Given the description of an element on the screen output the (x, y) to click on. 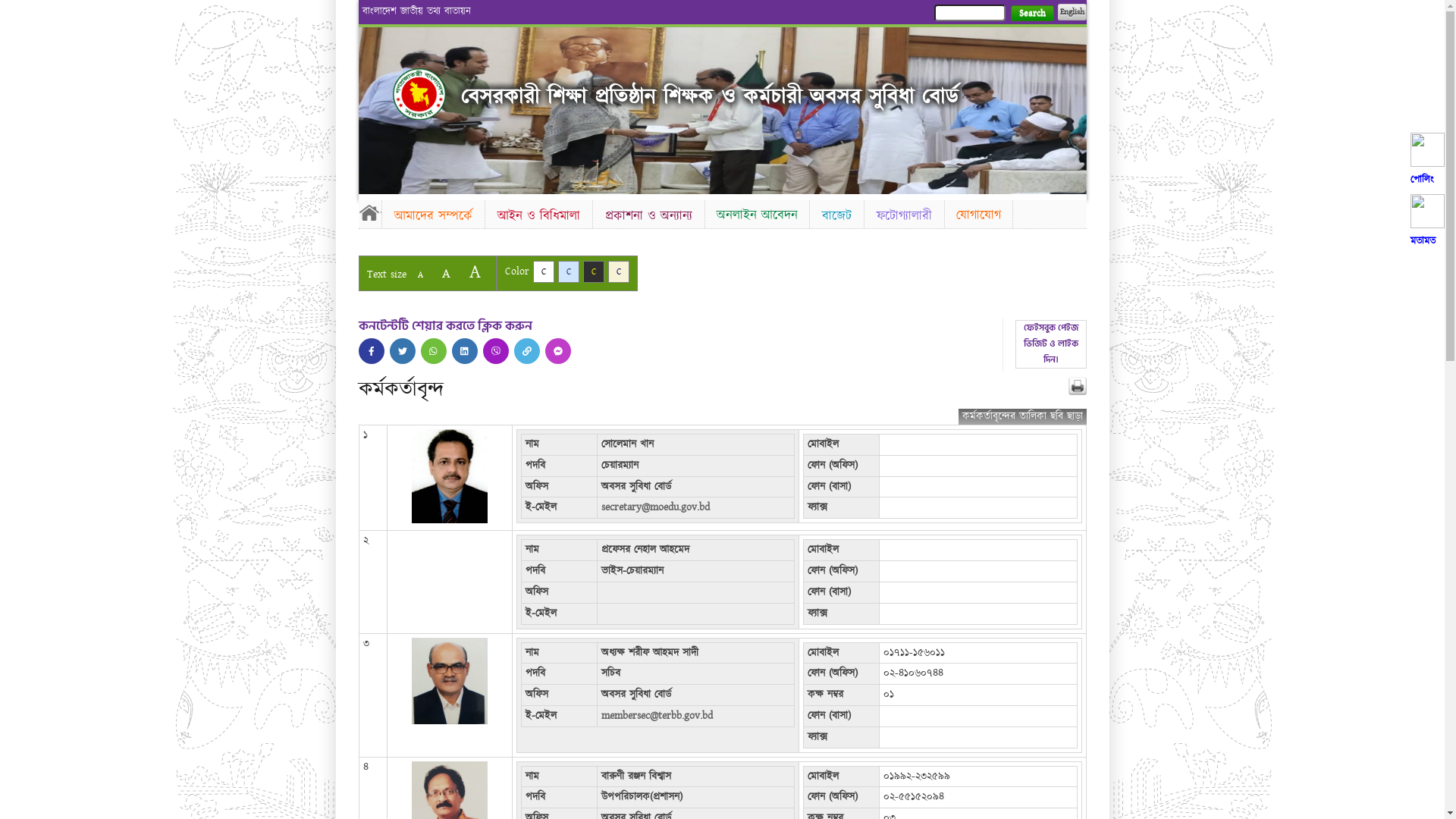
secretary@moedu.gov.bd Element type: text (655, 506)
A Element type: text (474, 271)
A Element type: text (445, 273)
Home Element type: hover (418, 93)
C Element type: text (618, 271)
Home Element type: hover (368, 211)
C Element type: text (592, 271)
Search Element type: text (1031, 13)
A Element type: text (419, 274)
English Element type: text (1071, 11)
membersec@terbb.gov.bd Element type: text (656, 715)
C Element type: text (542, 271)
C Element type: text (568, 271)
